Given the description of an element on the screen output the (x, y) to click on. 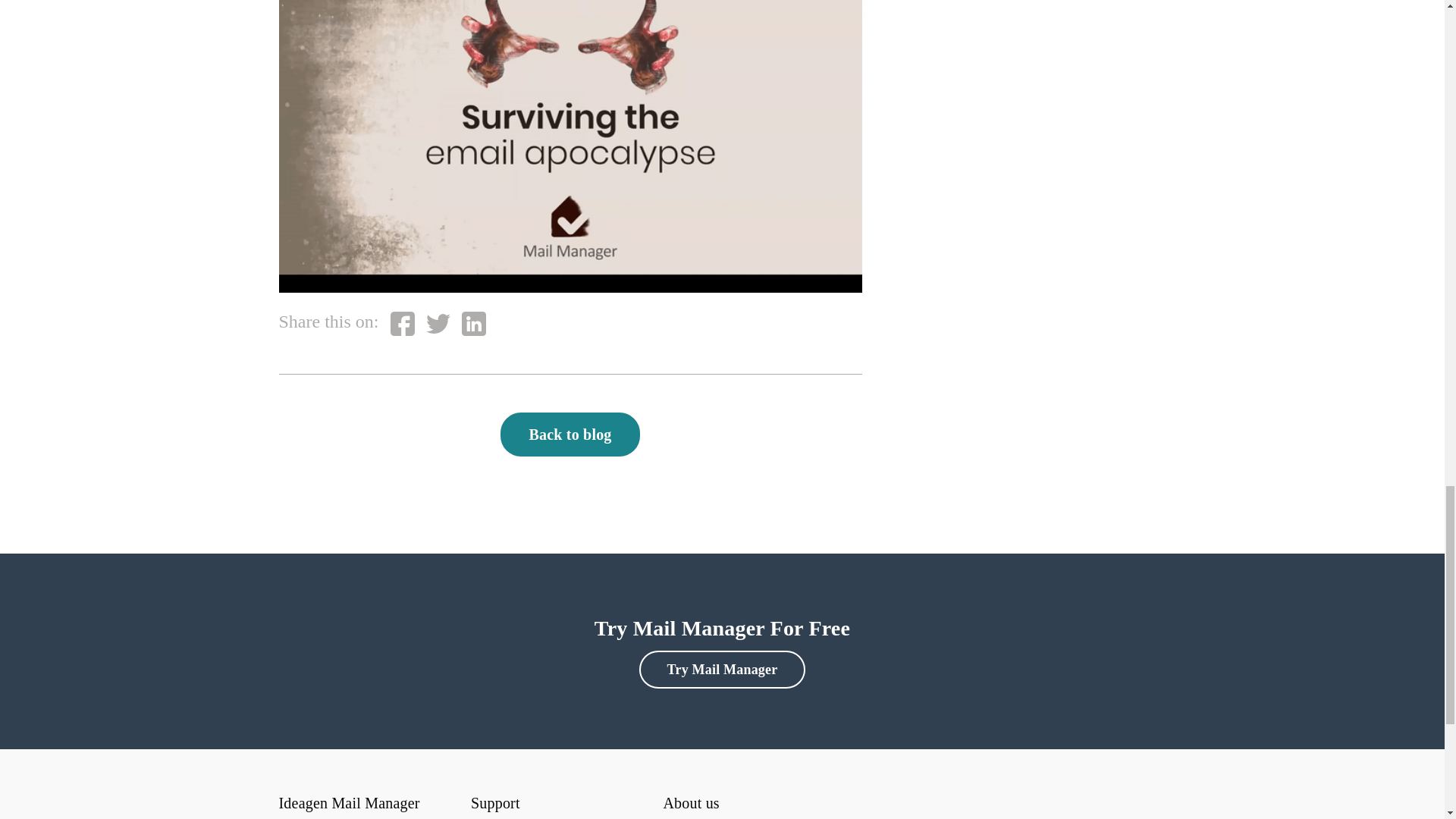
Tweet (437, 323)
Try Mail Manager (722, 669)
